Given the description of an element on the screen output the (x, y) to click on. 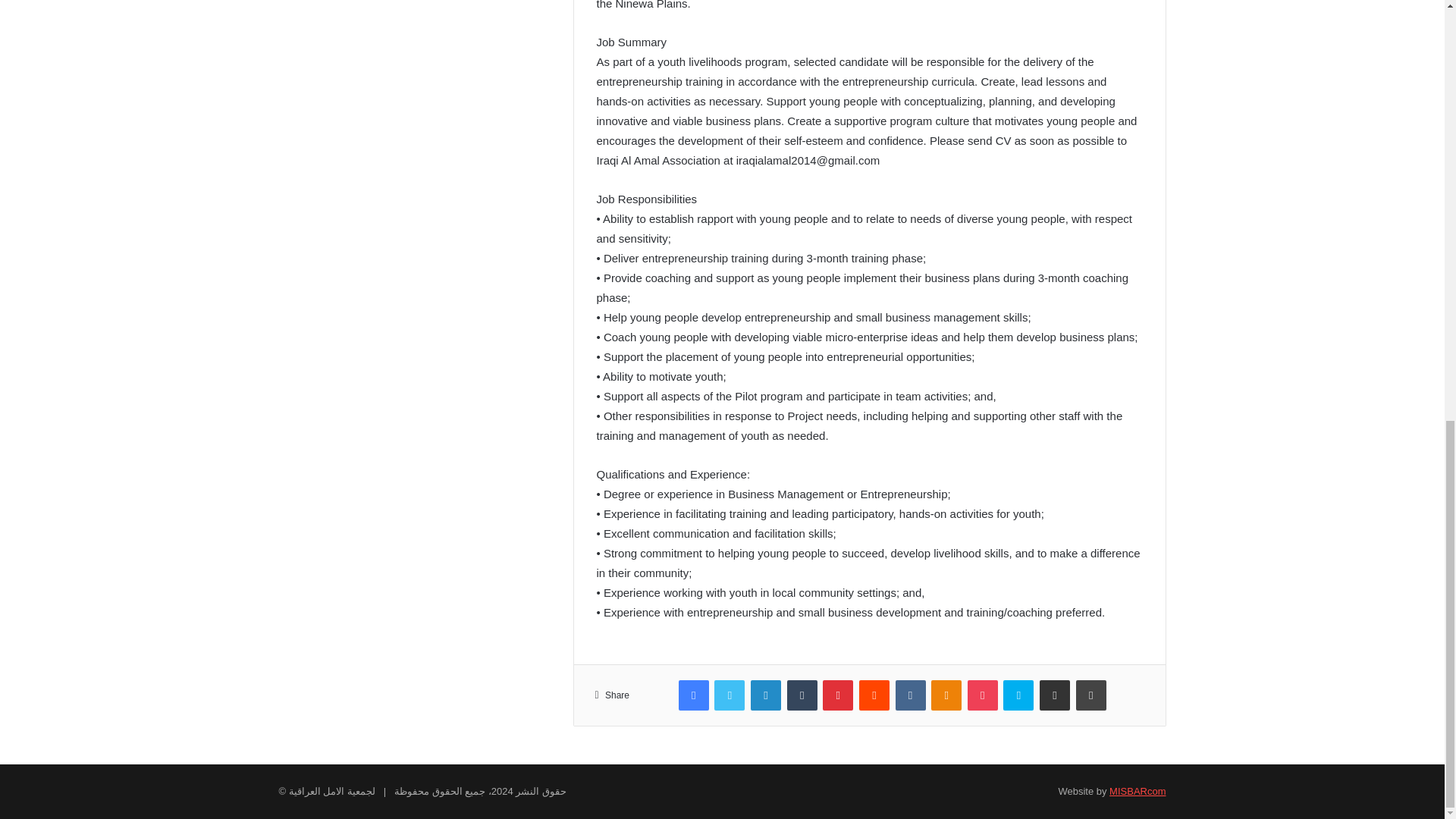
Share via Email (1054, 695)
Pocket (982, 695)
Twitter (729, 695)
Twitter (729, 695)
LinkedIn (765, 695)
Odnoklassniki (945, 695)
Reddit (874, 695)
VKontakte (910, 695)
Pinterest (837, 695)
Tumblr (801, 695)
Facebook (693, 695)
Skype (1018, 695)
Print (1090, 695)
Facebook (693, 695)
Tumblr (801, 695)
